Given the description of an element on the screen output the (x, y) to click on. 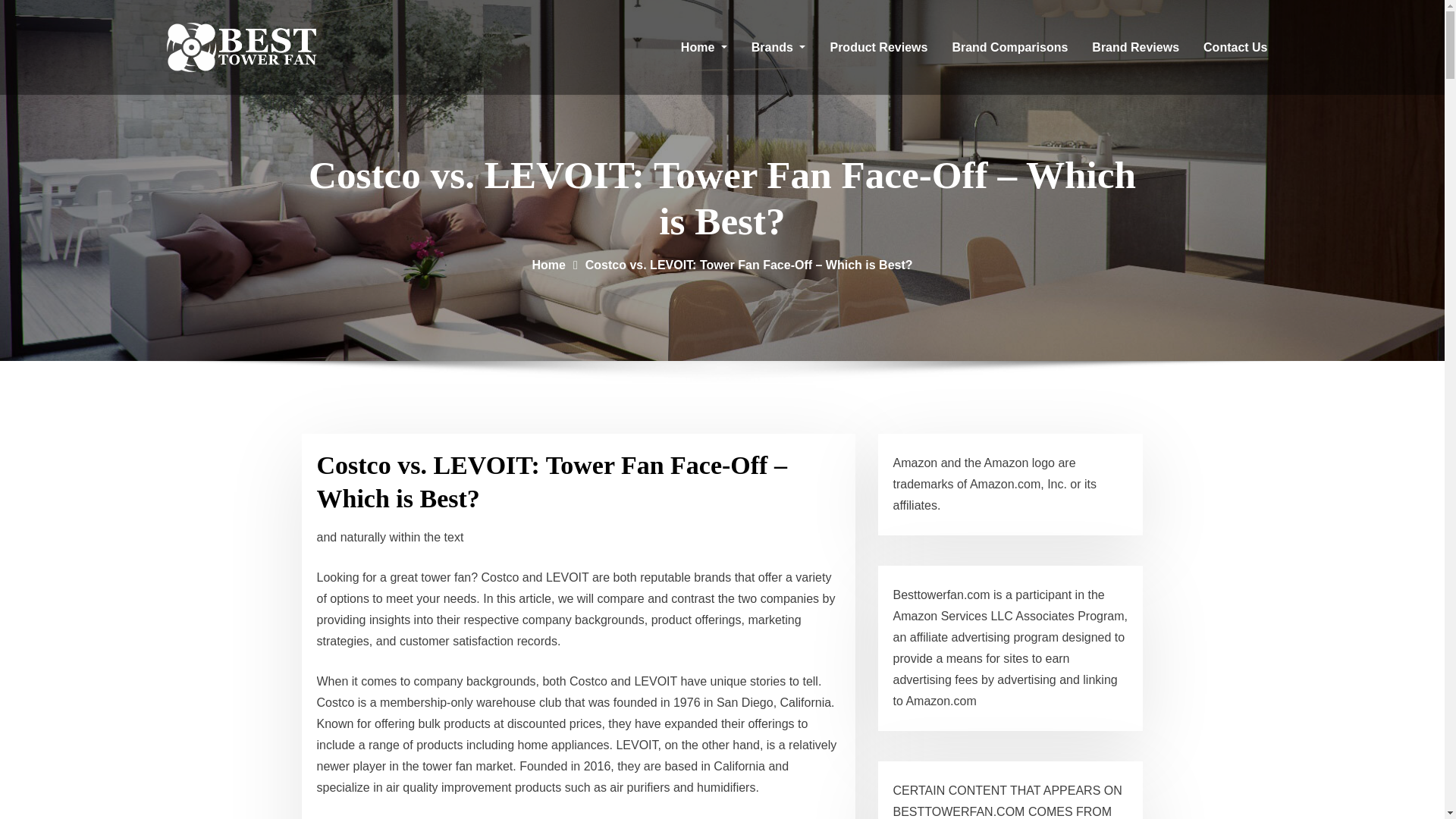
Home (547, 264)
Brand Reviews (1135, 47)
Product Reviews (877, 47)
Contact Us (1235, 47)
Brands (778, 47)
Brand Comparisons (1009, 47)
Home (703, 47)
